Given the description of an element on the screen output the (x, y) to click on. 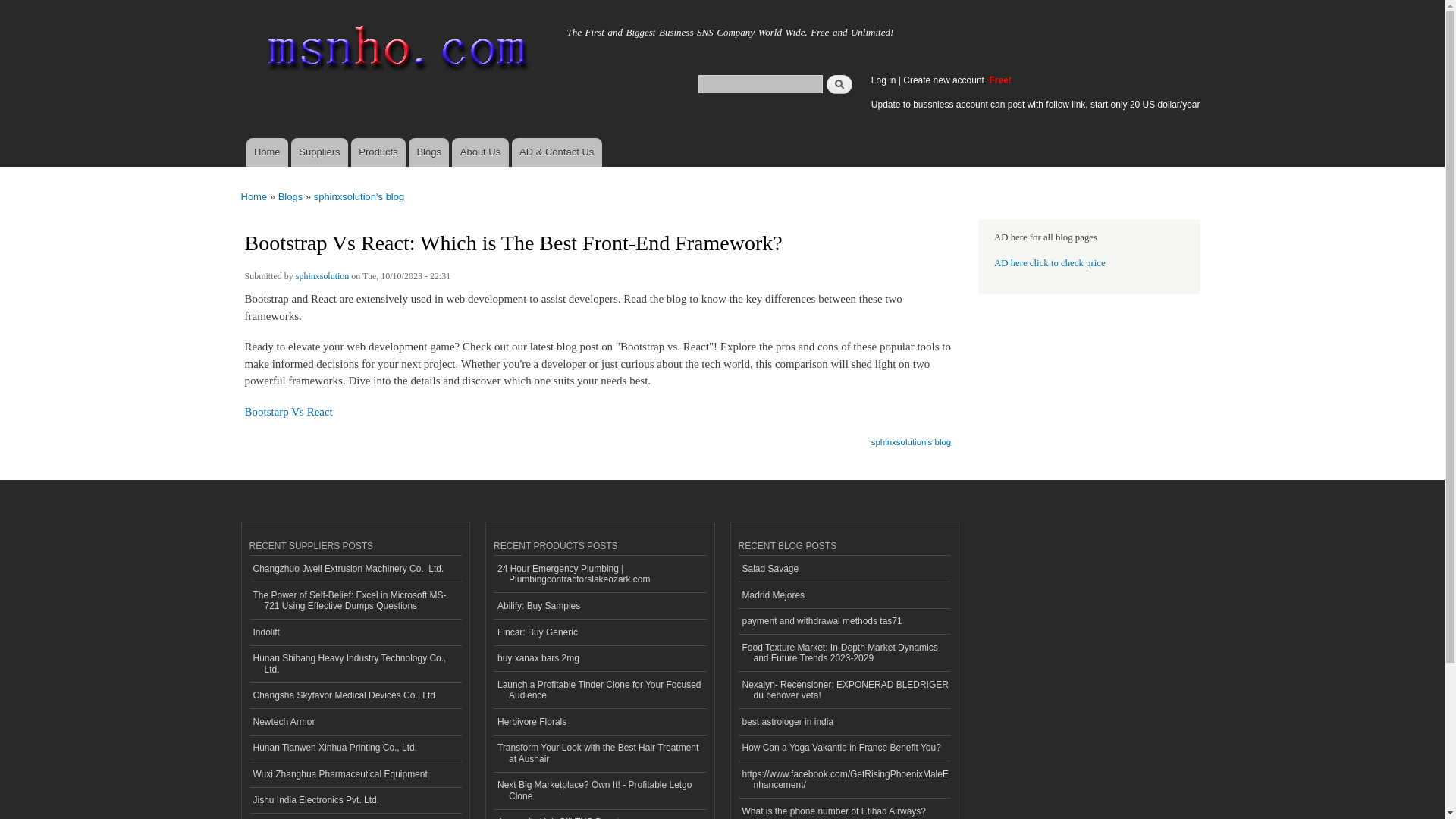
Wuxi Zhanghua Pharmaceutical Equipment (354, 774)
Changsha Skyfavor Medical Devices Co., Ltd (354, 695)
Contact us (557, 152)
Home (282, 28)
Outstanding Design and Manufacture Co., Ltd. (354, 816)
Bootstarp Vs React (287, 411)
sphinxsolution (322, 277)
Hunan Tianwen Xinhua Printing Co., Ltd. (354, 748)
sphinxsolution's blog (359, 196)
Hunan Shibang Heavy Industry Technology Co., Ltd. (354, 664)
About Us (479, 152)
Skip to main content (690, 1)
Blogs for suppliers and buyers (428, 152)
Transform Your Look with the Best Hair Treatment at Aushair (599, 754)
sphinxsolution's blog (911, 437)
